Given the description of an element on the screen output the (x, y) to click on. 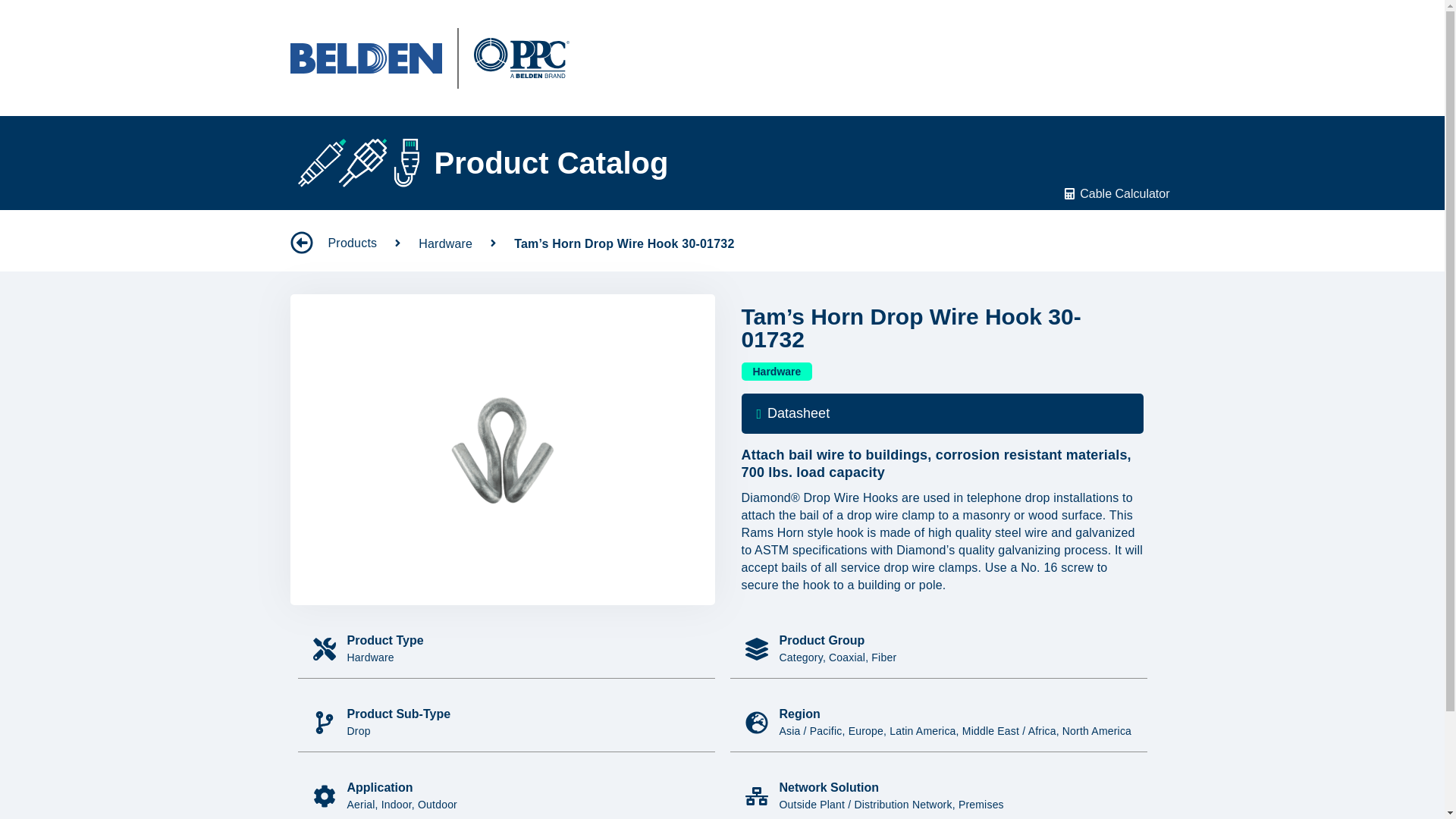
Hardware (776, 371)
Datasheet (941, 413)
Cable Calculator (1124, 193)
